Given the description of an element on the screen output the (x, y) to click on. 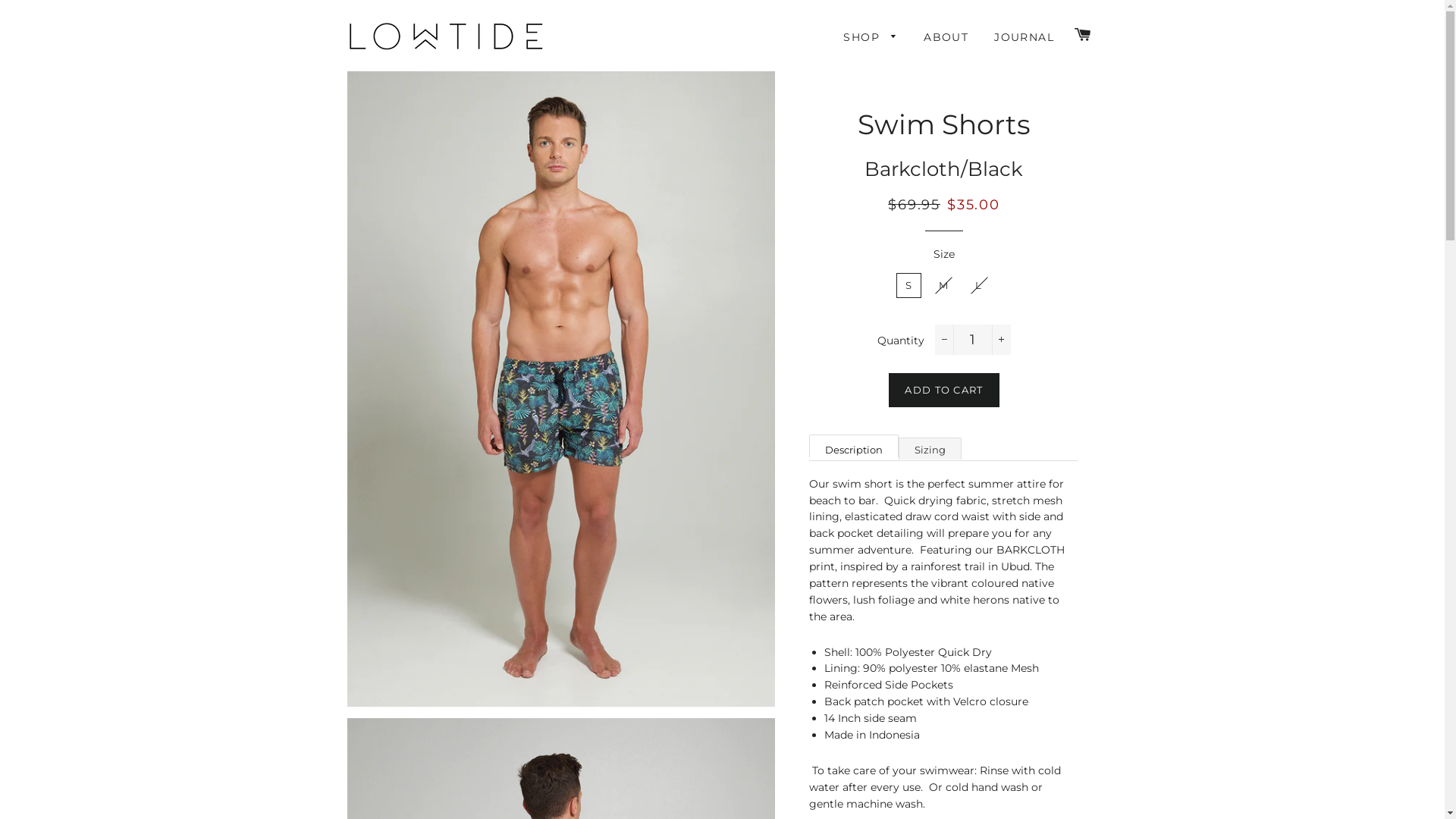
Description Element type: text (853, 445)
+ Element type: text (1000, 339)
SHOP Element type: text (870, 37)
Sizing Element type: text (929, 448)
CART Element type: text (1082, 35)
JOURNAL Element type: text (1023, 37)
ADD TO CART Element type: text (943, 389)
ABOUT Element type: text (945, 37)
